Given the description of an element on the screen output the (x, y) to click on. 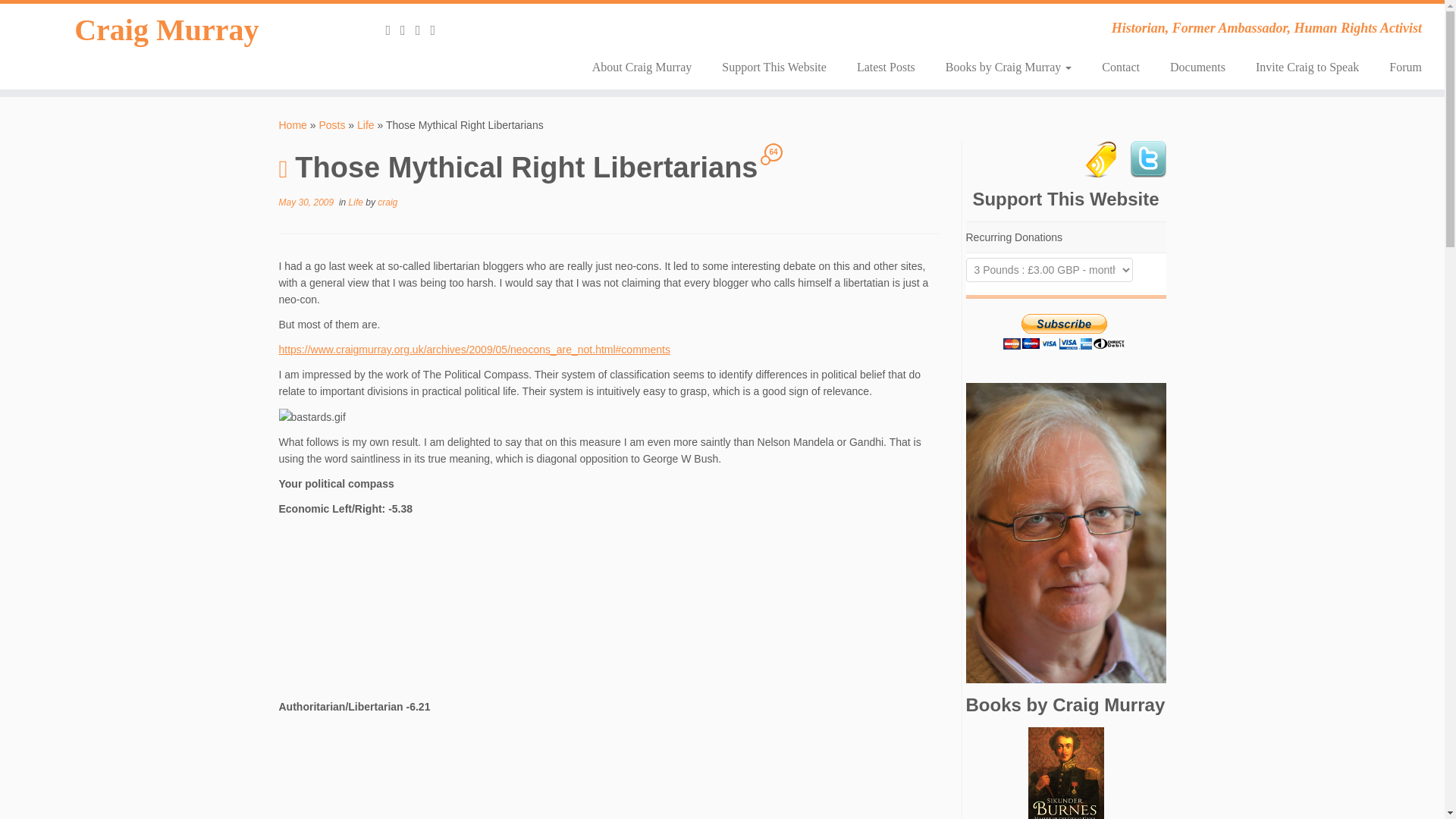
Follow me on Facebook (437, 29)
Invite Craig to Speak (1307, 67)
Life (357, 202)
Support This Website (773, 67)
View all posts in Life (357, 202)
craig (387, 202)
Posts (331, 124)
Books by Craig Murray (1008, 67)
About Craig Murray (641, 67)
Follow me on Twitter (422, 29)
Life (365, 124)
Posts (331, 124)
May 30, 2009 (306, 202)
View all posts by craig (387, 202)
Craig Murray (166, 30)
